Given the description of an element on the screen output the (x, y) to click on. 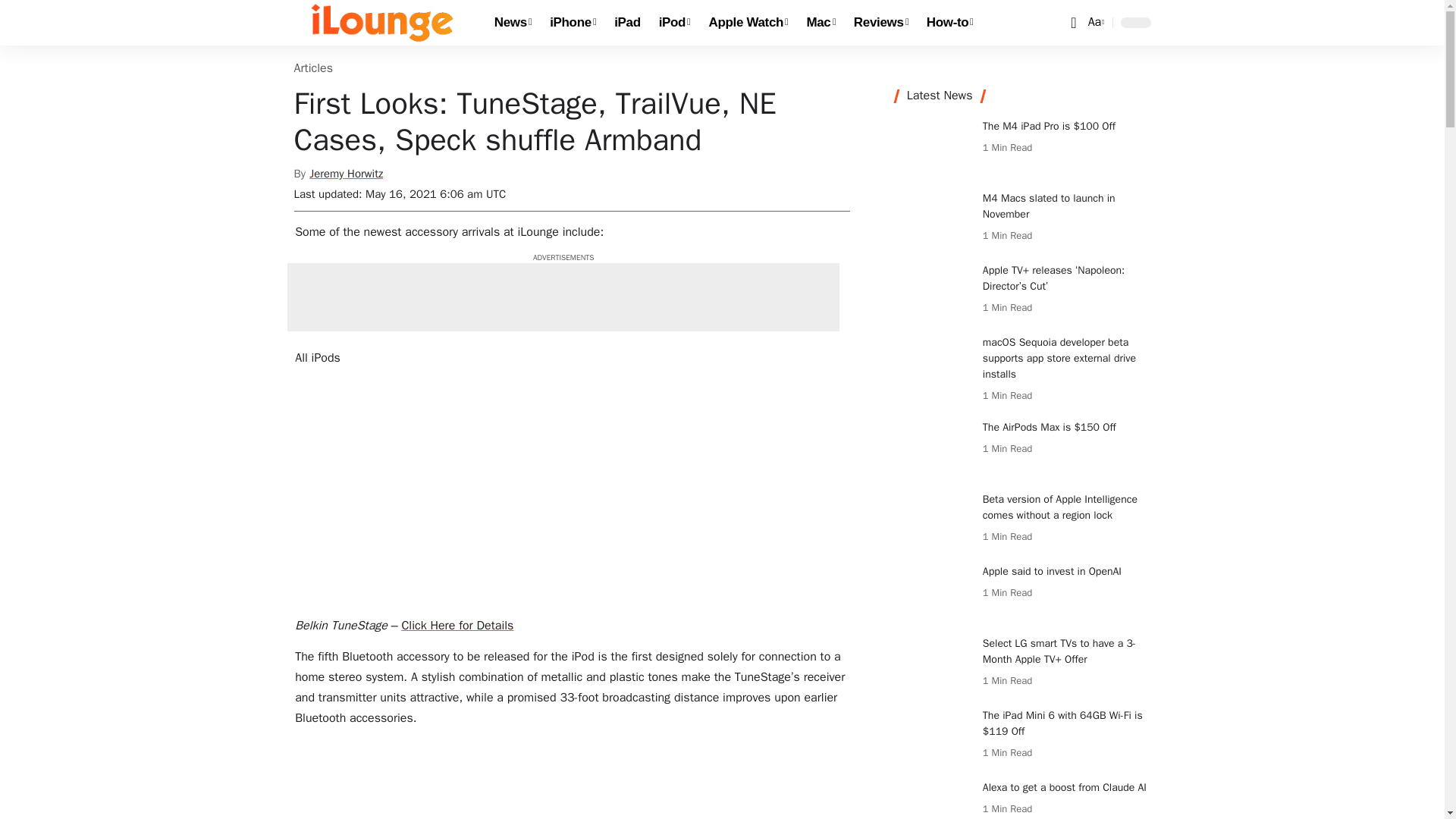
iPhone (572, 22)
iPod (674, 22)
iLounge (382, 22)
M4 Macs slated to launch in November (933, 218)
Alexa to get a boost from Claude AI (933, 799)
Apple said to invest in OpenAI (933, 591)
Apple Watch (748, 22)
Reviews (880, 22)
News (512, 22)
